Given the description of an element on the screen output the (x, y) to click on. 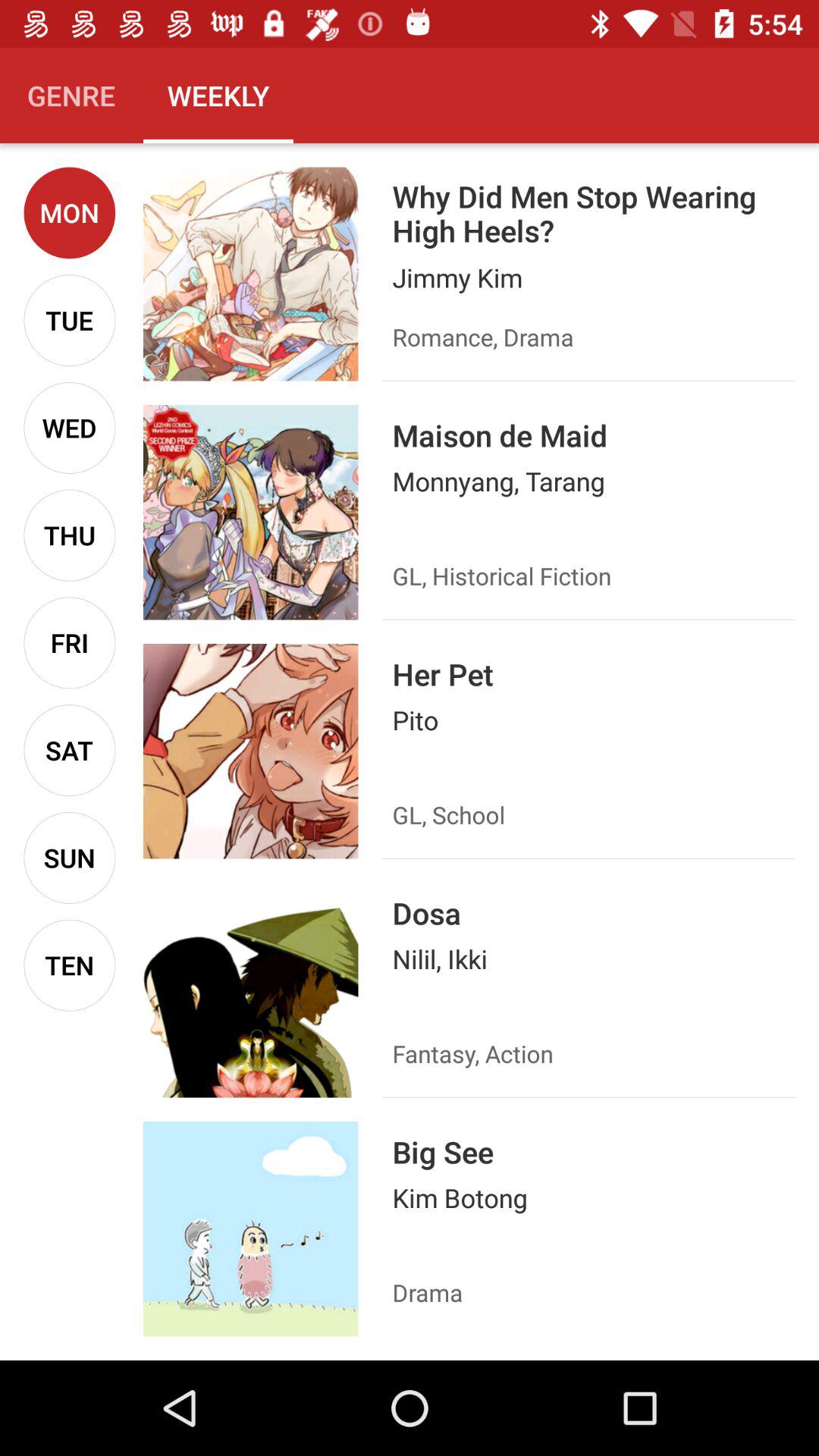
click icon above thu item (69, 427)
